Given the description of an element on the screen output the (x, y) to click on. 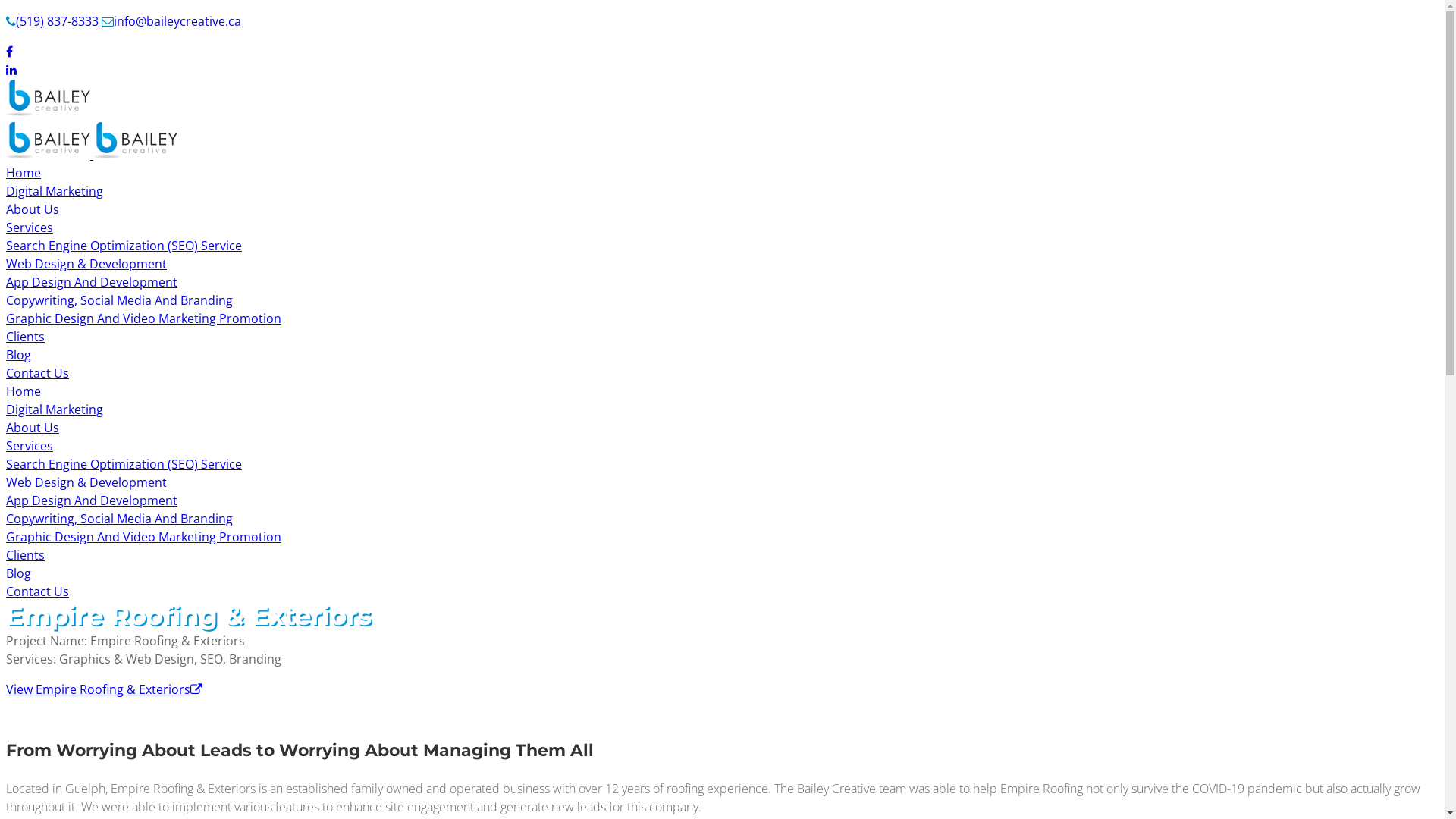
info@baileycreative.ca Element type: text (171, 20)
Home Element type: text (23, 390)
Clients Element type: text (25, 336)
Digital Marketing Element type: text (54, 409)
Home Element type: text (23, 172)
Services Element type: text (29, 445)
Linkedin Element type: hover (11, 69)
Digital Marketing Element type: text (54, 190)
Blog Element type: text (18, 572)
Contact Us Element type: text (37, 372)
Copywriting, Social Media And Branding Element type: text (119, 518)
About Us Element type: text (32, 427)
Graphic Design And Video Marketing Promotion Element type: text (143, 318)
Web Design & Development Element type: text (86, 481)
Copywriting, Social Media And Branding Element type: text (119, 299)
Services Element type: text (29, 227)
App Design And Development Element type: text (91, 500)
Blog Element type: text (18, 354)
Graphic Design And Video Marketing Promotion Element type: text (143, 536)
Search Engine Optimization (SEO) Service Element type: text (123, 463)
Web Design & Development Element type: text (86, 263)
Search Engine Optimization (SEO) Service Element type: text (123, 245)
Facebook Element type: hover (9, 51)
Contact Us Element type: text (37, 591)
App Design And Development Element type: text (91, 281)
Clients Element type: text (25, 554)
View Empire Roofing & Exteriors Element type: text (104, 688)
About Us Element type: text (32, 208)
(519) 837-8333 Element type: text (52, 20)
